Given the description of an element on the screen output the (x, y) to click on. 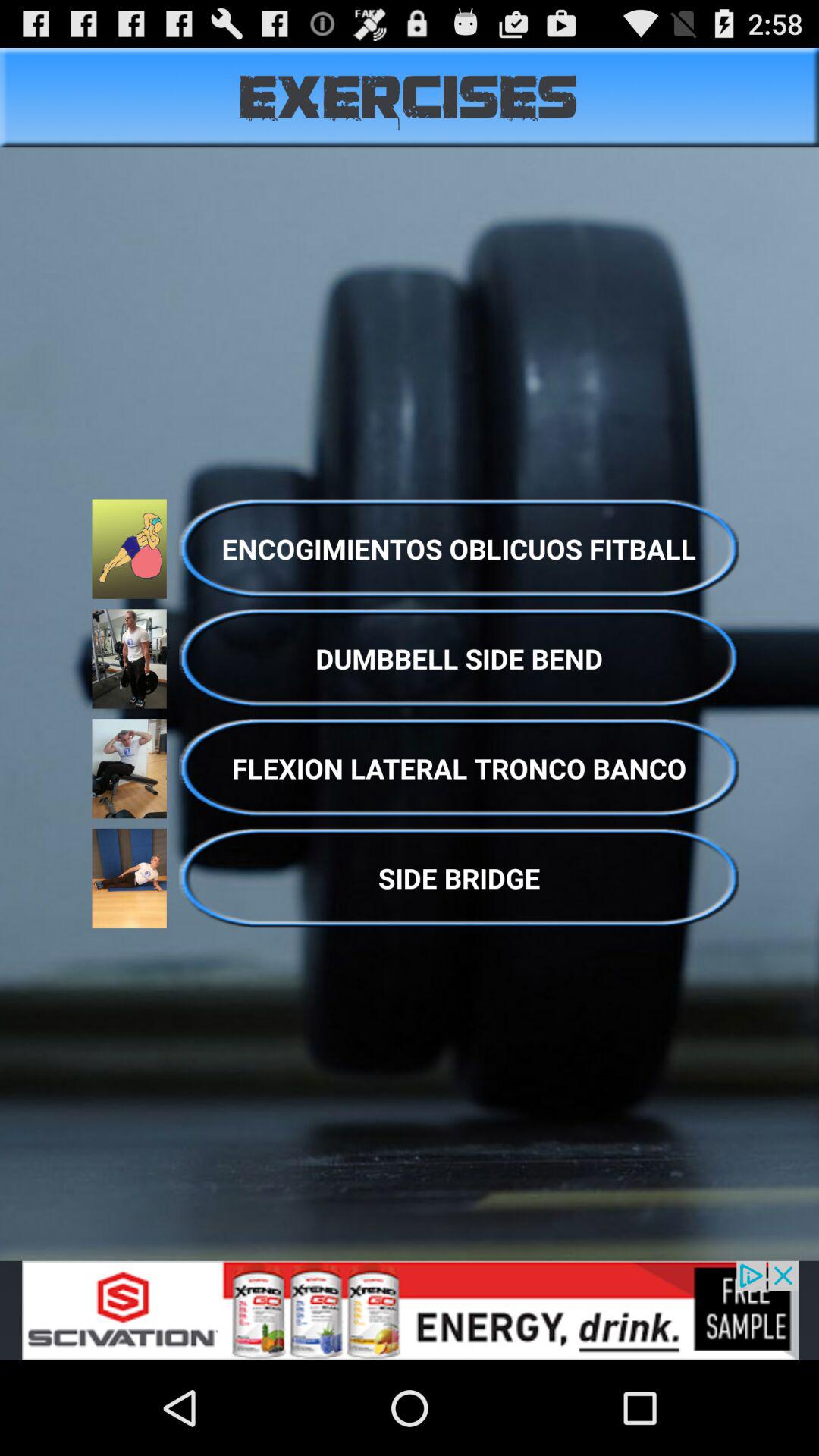
jimnastics (409, 1310)
